Given the description of an element on the screen output the (x, y) to click on. 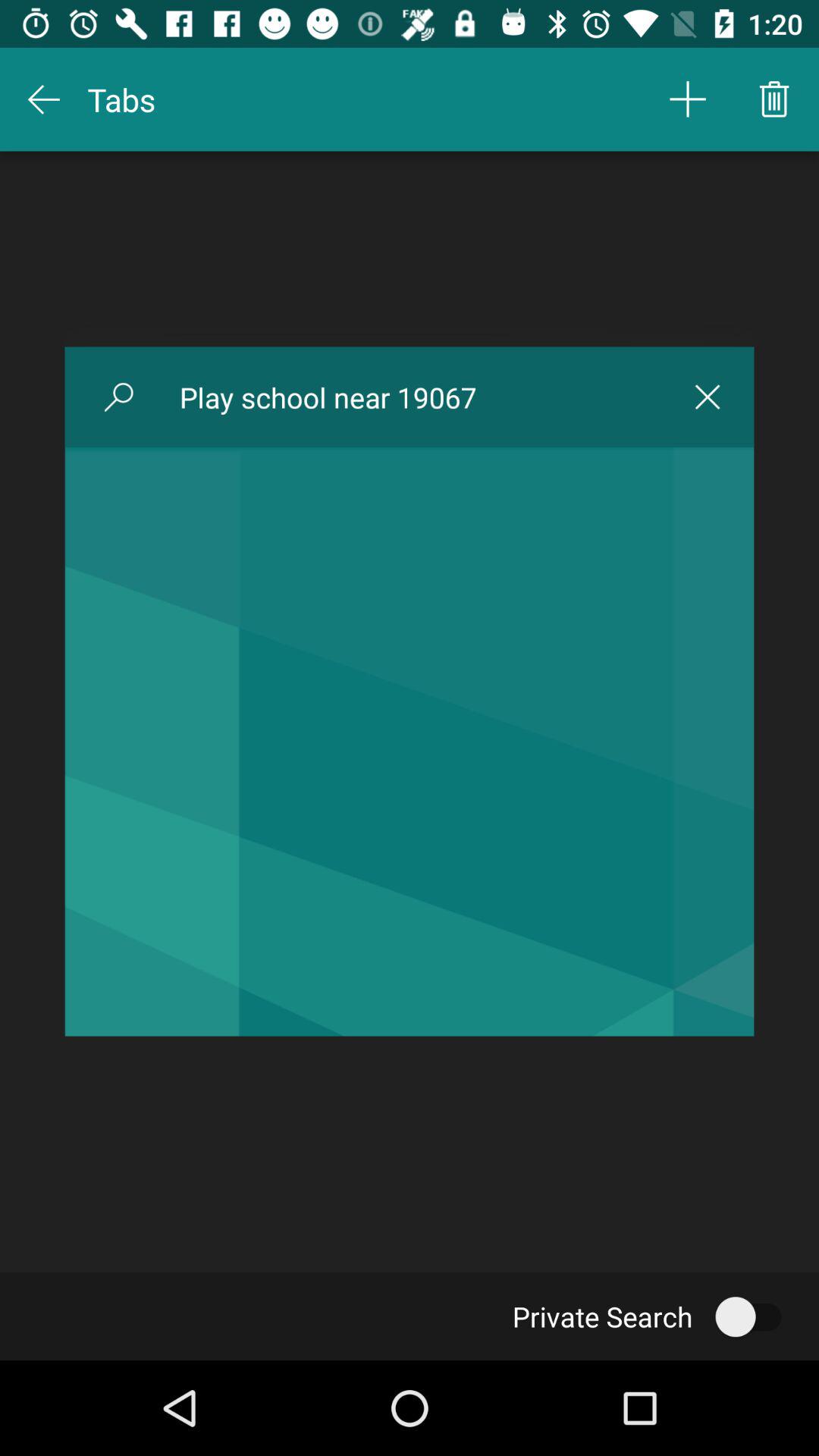
turn on item next to the tabs icon (687, 99)
